Given the description of an element on the screen output the (x, y) to click on. 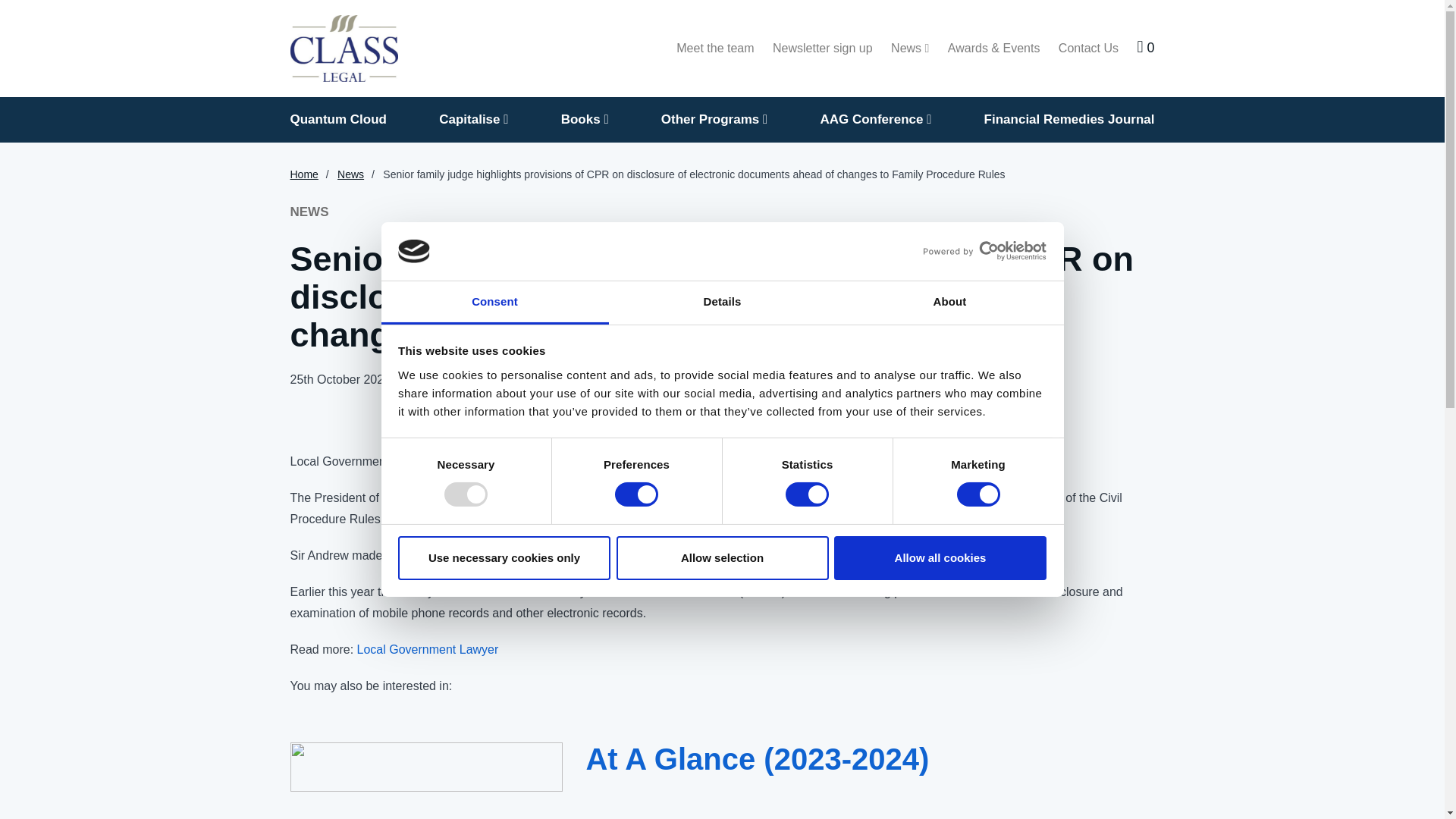
Details (721, 302)
Consent (494, 302)
Home (343, 48)
About (948, 302)
